Given the description of an element on the screen output the (x, y) to click on. 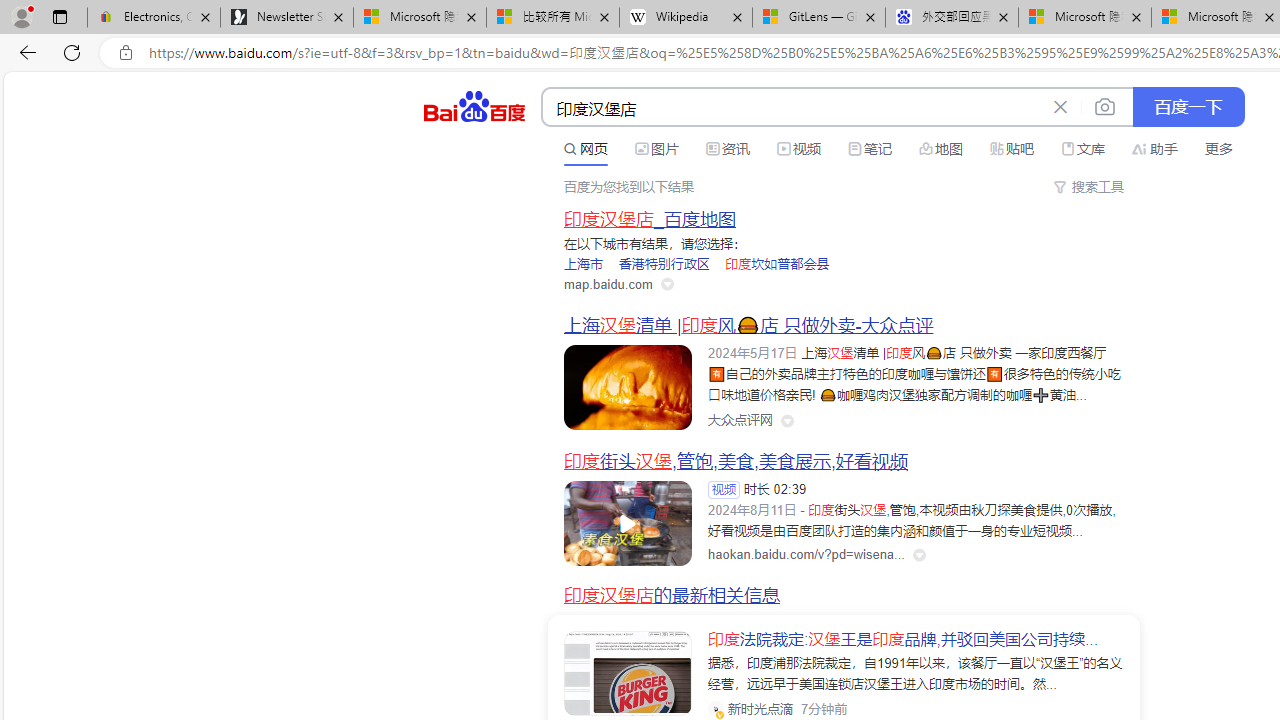
Class: siteLink_9TPP3 (740, 421)
Newsletter Sign Up (287, 17)
AutomationID: kw (793, 107)
